Given the description of an element on the screen output the (x, y) to click on. 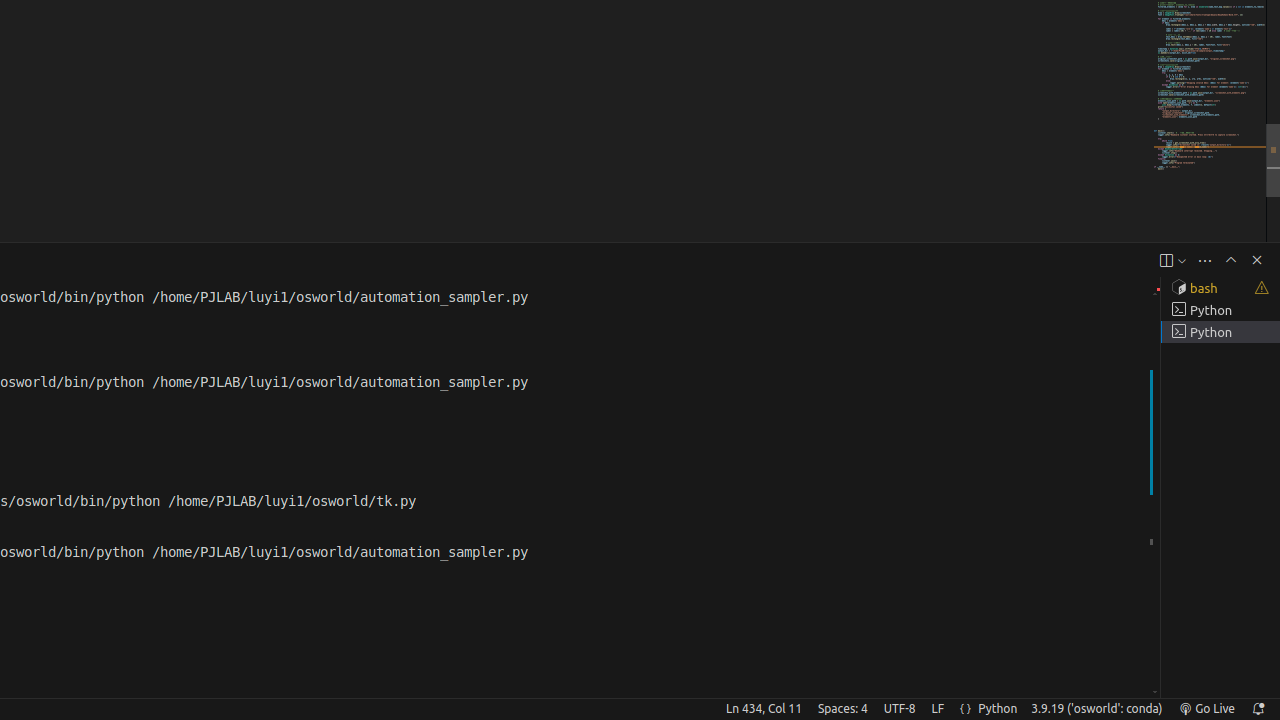
Views and More Actions... Element type: push-button (1205, 260)
UTF-8 Element type: push-button (899, 709)
Python Element type: push-button (998, 709)
New Terminal (Ctrl+Shift+`) [Alt] Split Terminal (Ctrl+Shift+5) Element type: push-button (1166, 260)
Hide Panel Element type: push-button (1257, 260)
